Given the description of an element on the screen output the (x, y) to click on. 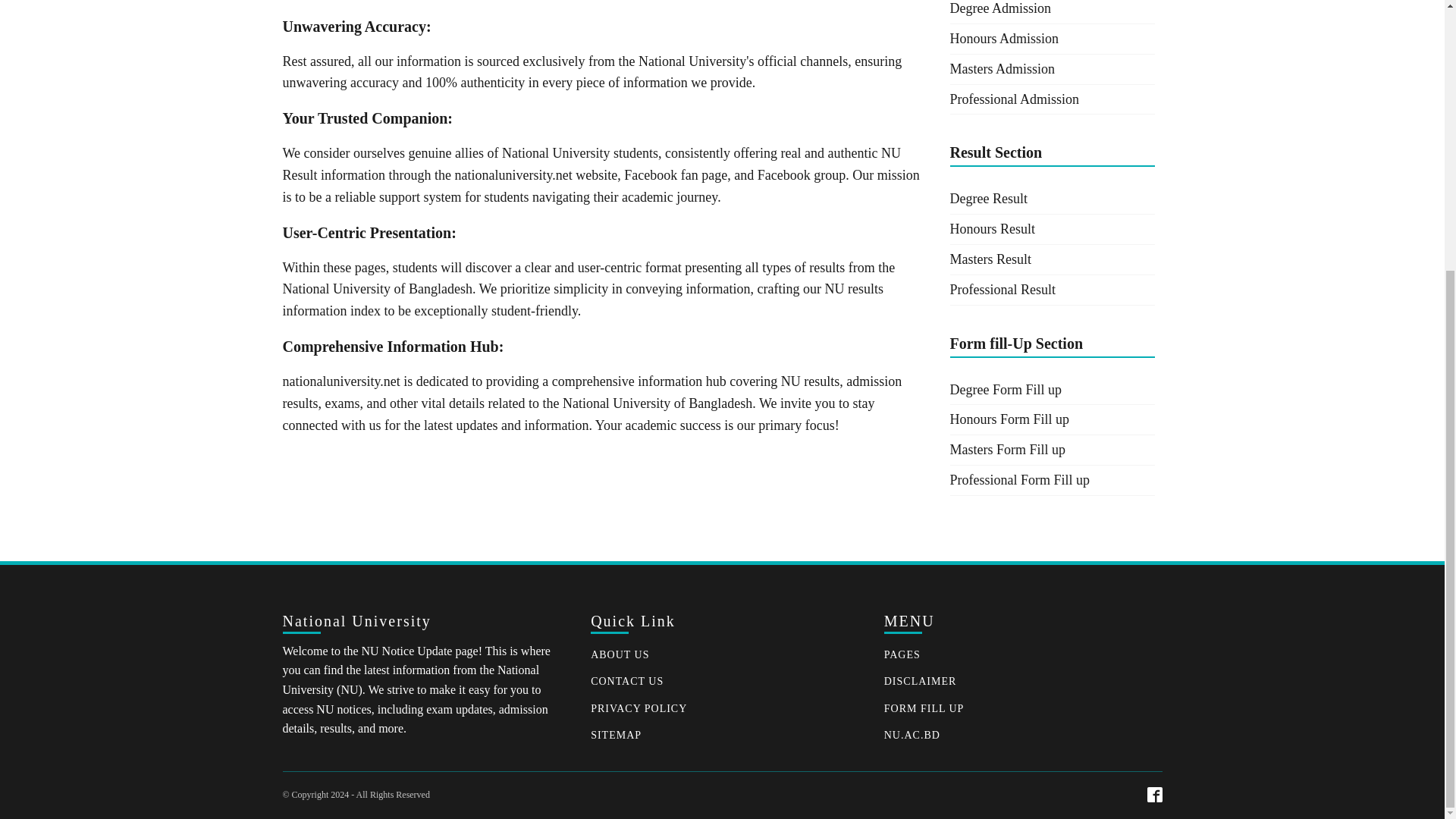
Honours Admission (1051, 39)
Masters Admission (1051, 69)
Professional Admission (1051, 100)
Honours Result (1051, 229)
Degree Result (1051, 199)
Degree Admission (1051, 12)
